Given the description of an element on the screen output the (x, y) to click on. 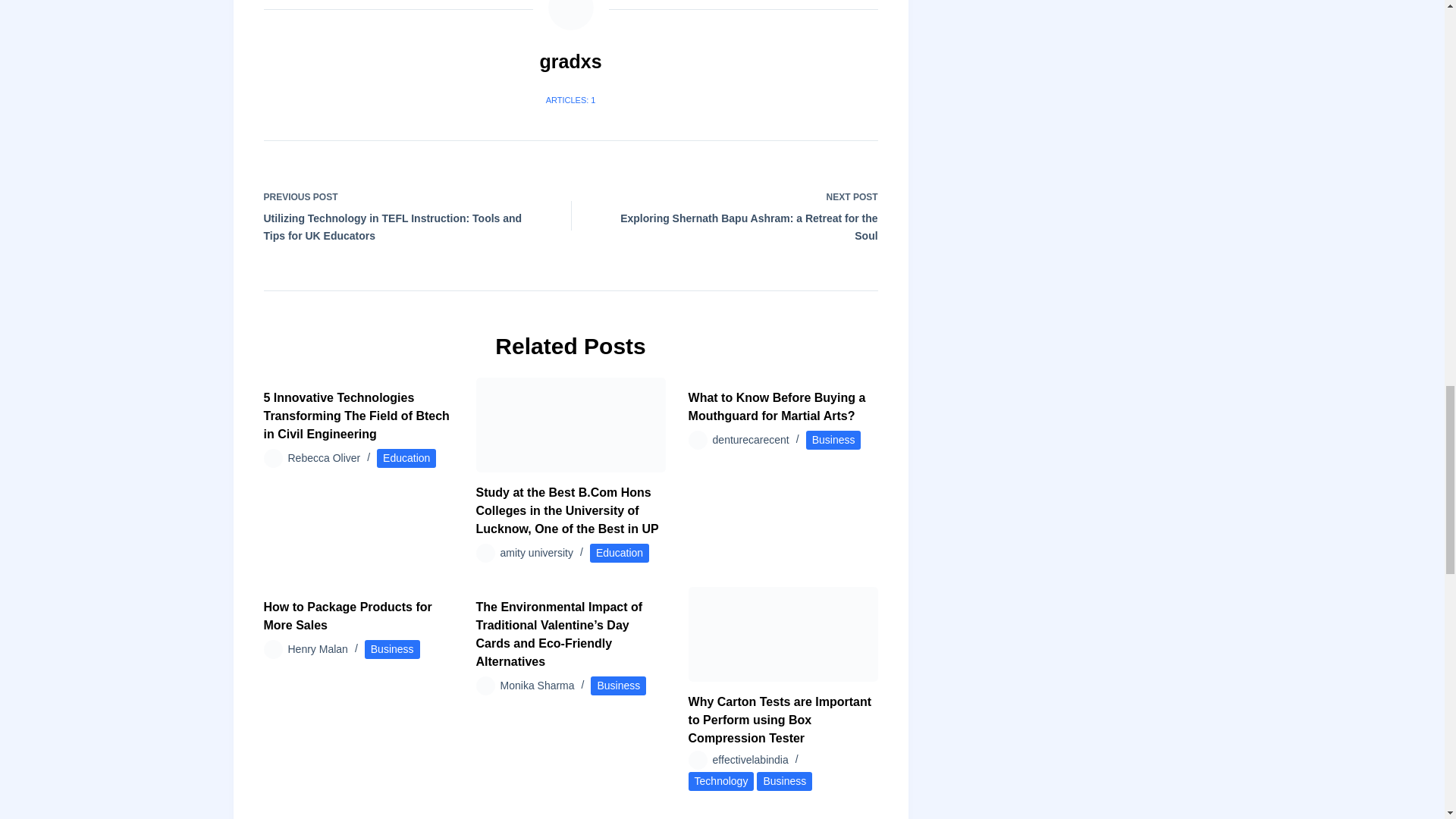
Posts by amity university (536, 552)
Posts by effectivelabindia (751, 759)
Posts by Henry Malan (317, 648)
Posts by Rebecca Oliver (324, 458)
Posts by Monika Sharma (537, 685)
Posts by denturecarecent (751, 439)
